Given the description of an element on the screen output the (x, y) to click on. 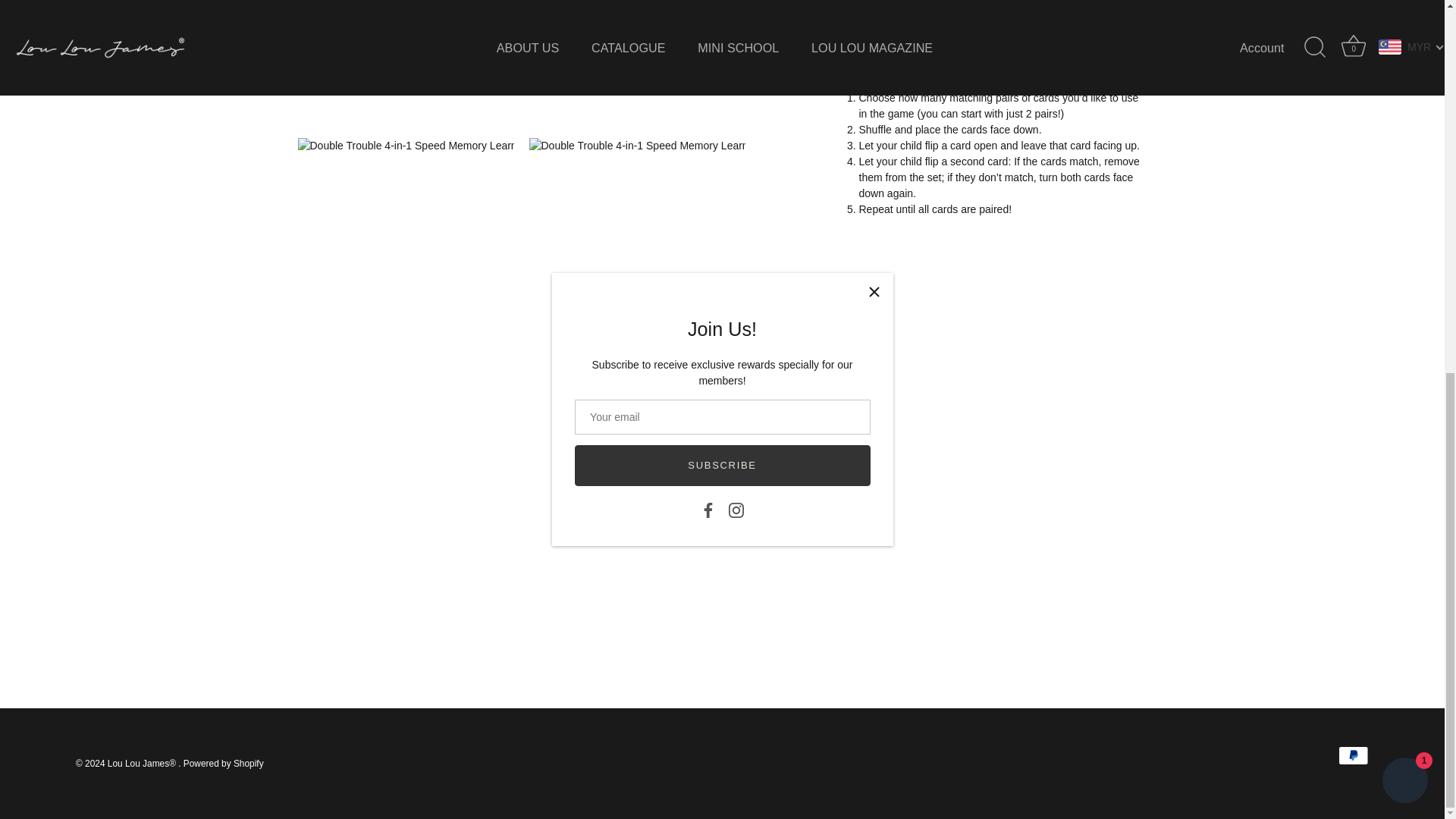
PayPal (1353, 755)
Shopify online store chat (1404, 101)
